Given the description of an element on the screen output the (x, y) to click on. 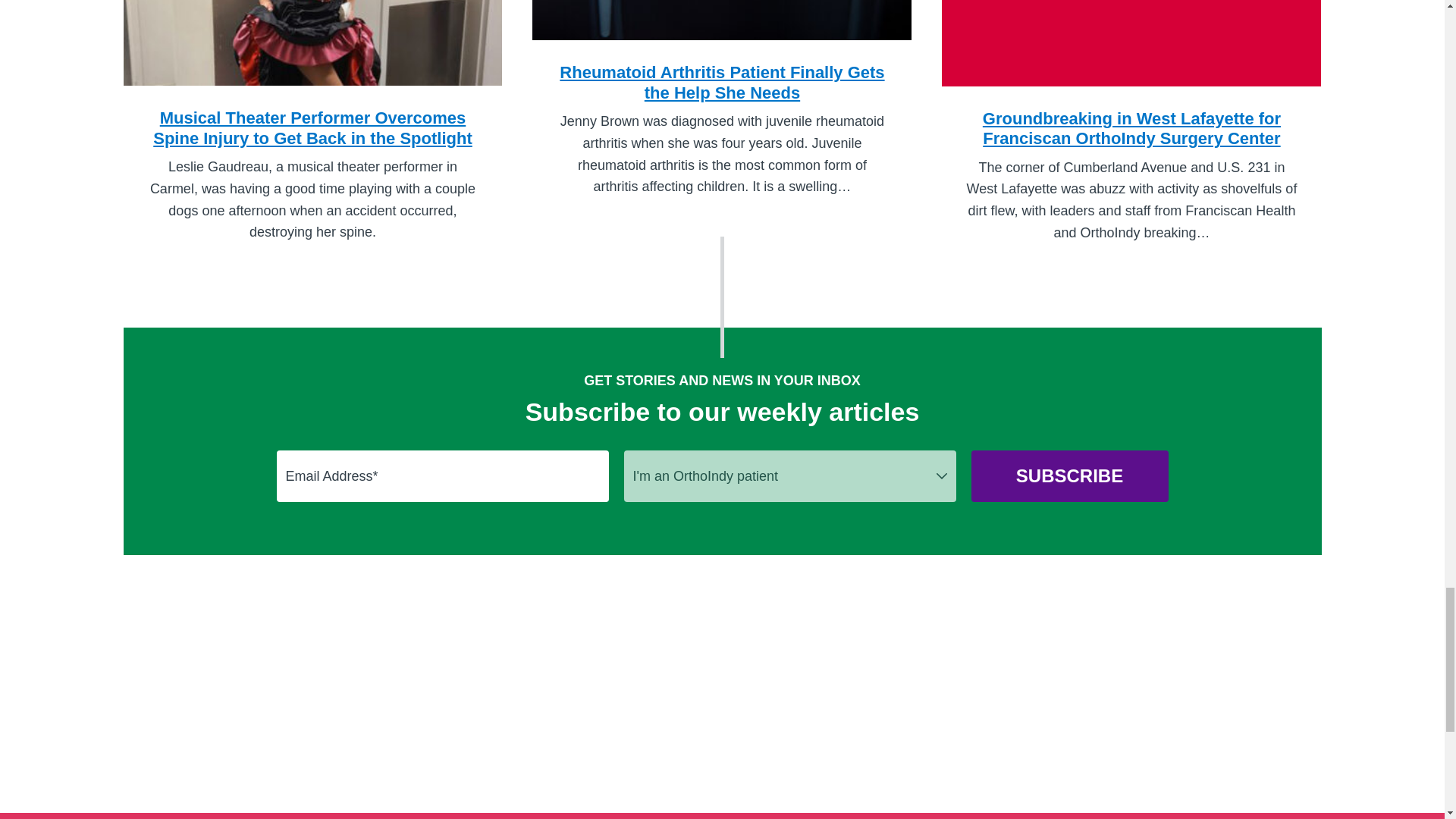
Rheumatoid Arthritis Patient Finally Gets the Help She Needs (721, 52)
Subscribe (1069, 476)
Subscribe (1069, 476)
